Given the description of an element on the screen output the (x, y) to click on. 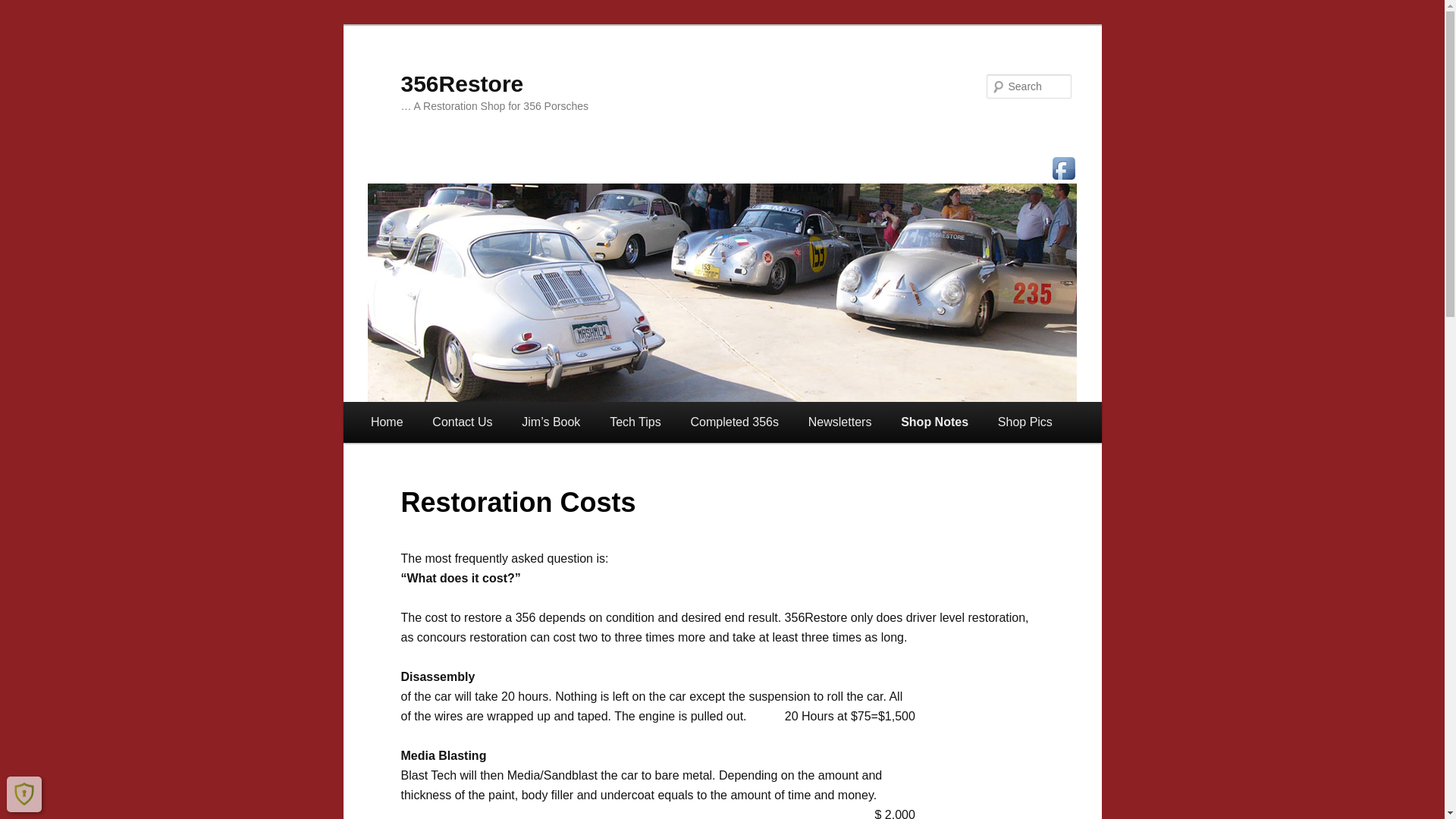
Shop Notes Element type: text (934, 421)
Completed 356s Element type: text (734, 421)
Home Element type: text (386, 421)
Visit Us On Facebook Element type: hover (1063, 168)
Tech Tips Element type: text (635, 421)
Search Element type: text (25, 9)
Skip to primary content Element type: text (380, 401)
356Restore Element type: text (461, 83)
Shop Pics Element type: text (1024, 421)
Newsletters Element type: text (839, 421)
Shield Security Element type: hover (24, 793)
Contact Us Element type: text (462, 421)
